Given the description of an element on the screen output the (x, y) to click on. 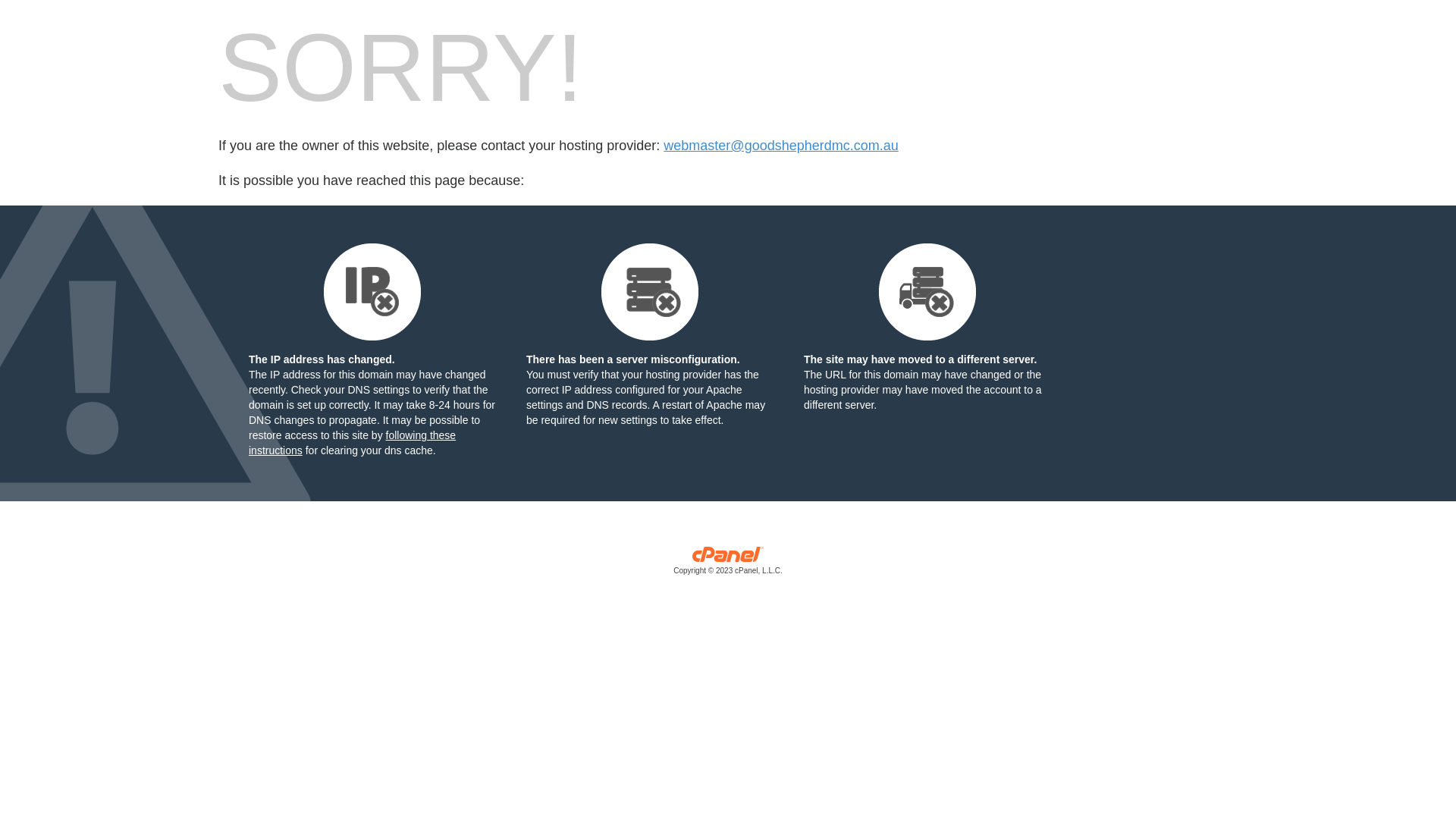
webmaster@goodshepherdmc.com.au Element type: text (780, 145)
following these instructions Element type: text (351, 442)
